Given the description of an element on the screen output the (x, y) to click on. 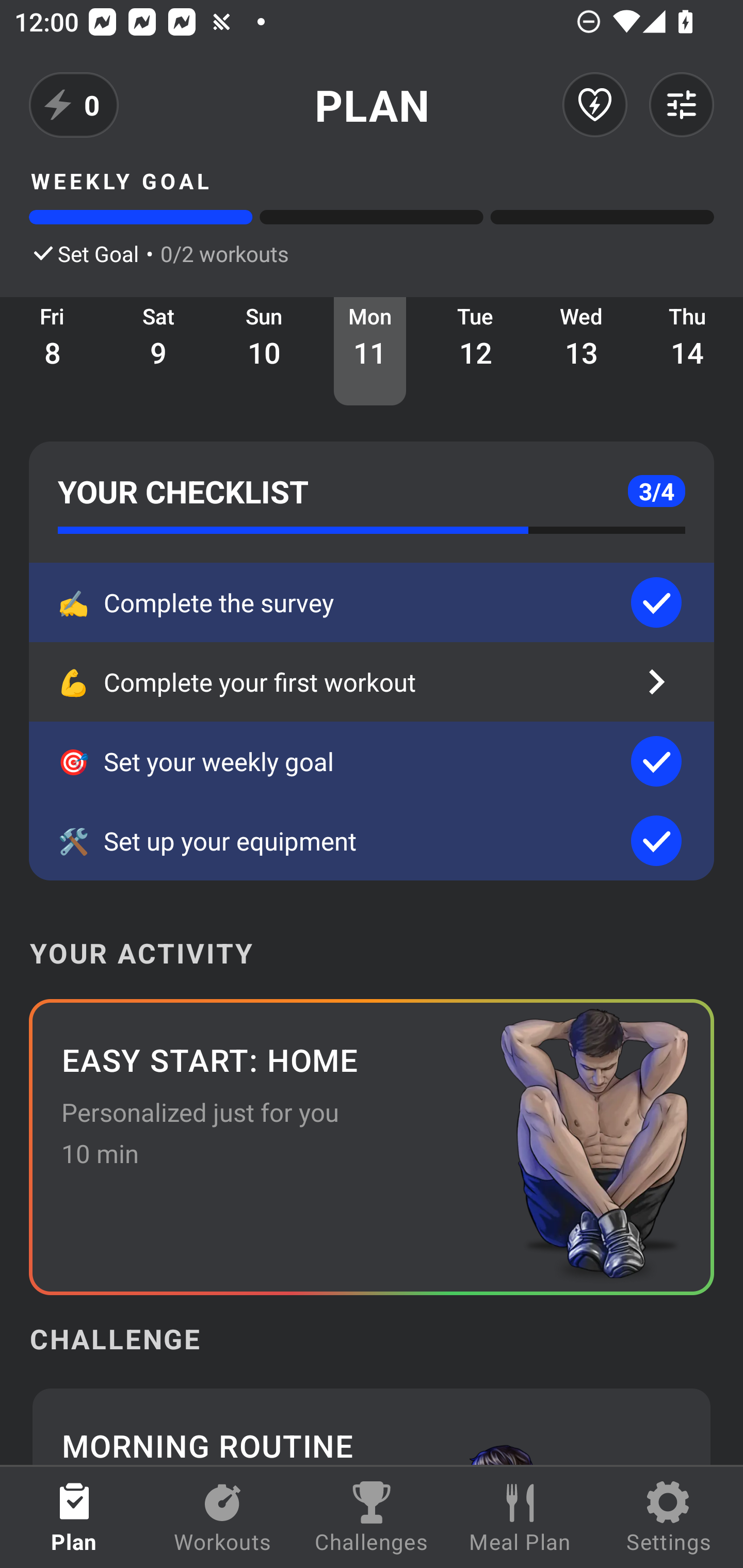
0 (73, 104)
Fri 8 (52, 351)
Sat 9 (158, 351)
Sun 10 (264, 351)
Mon 11 (369, 351)
Tue 12 (475, 351)
Wed 13 (581, 351)
Thu 14 (687, 351)
💪 Complete your first workout (371, 681)
EASY START: HOME Personalized just for you 10 min (371, 1146)
 Workouts  (222, 1517)
 Challenges  (371, 1517)
 Meal Plan  (519, 1517)
 Settings  (668, 1517)
